Given the description of an element on the screen output the (x, y) to click on. 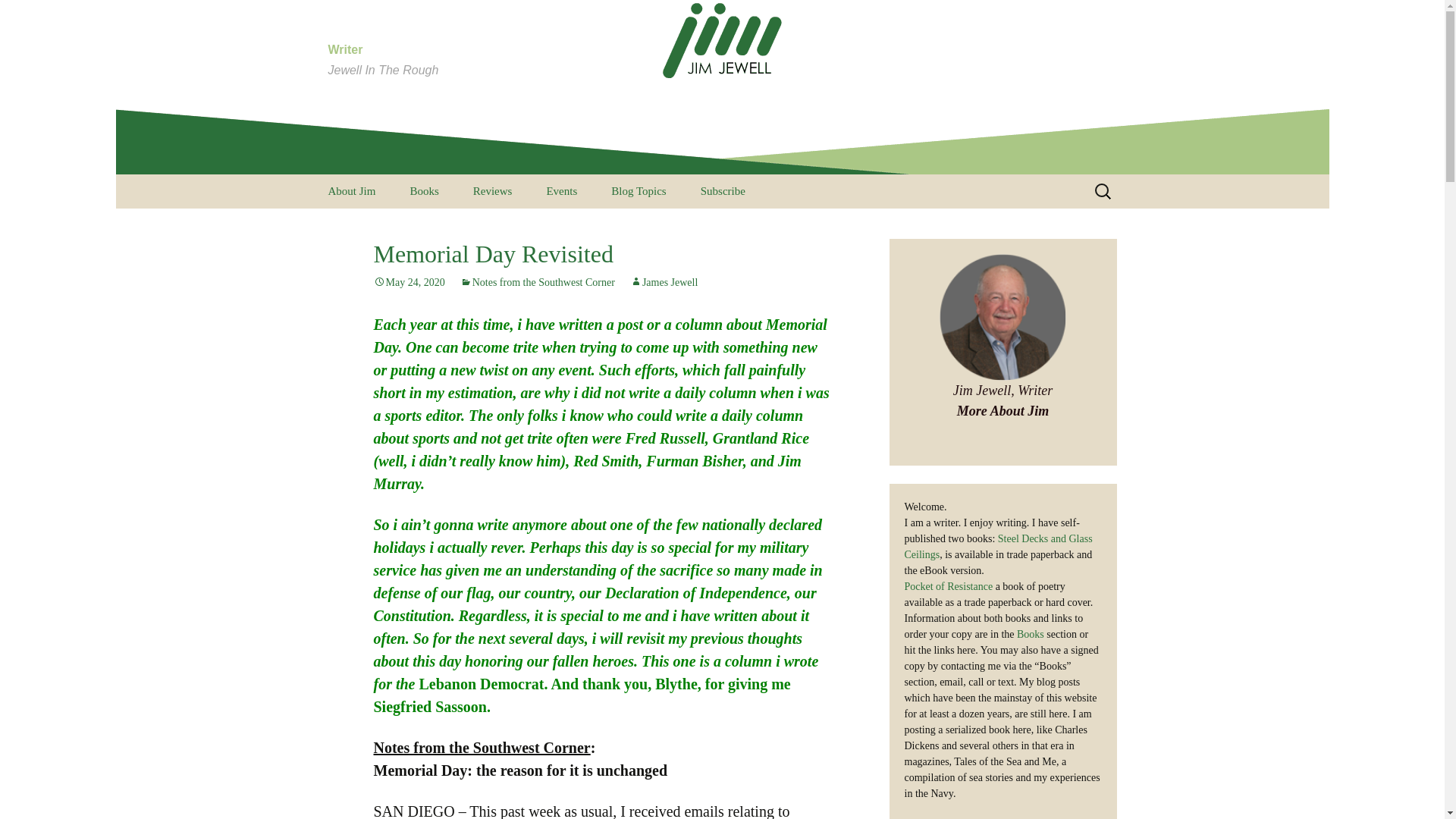
Subscribe (722, 191)
A Pocket of Resistance (671, 225)
Events (561, 191)
Steel Decks and Glass Ceilings (470, 230)
Books (1029, 633)
Reviews (492, 191)
Permalink to Memorial Day Revisited (408, 282)
View all posts by James Jewell (663, 282)
Skip to content (998, 546)
James Jewell (18, 18)
Pocket of Resistance (663, 282)
